Given the description of an element on the screen output the (x, y) to click on. 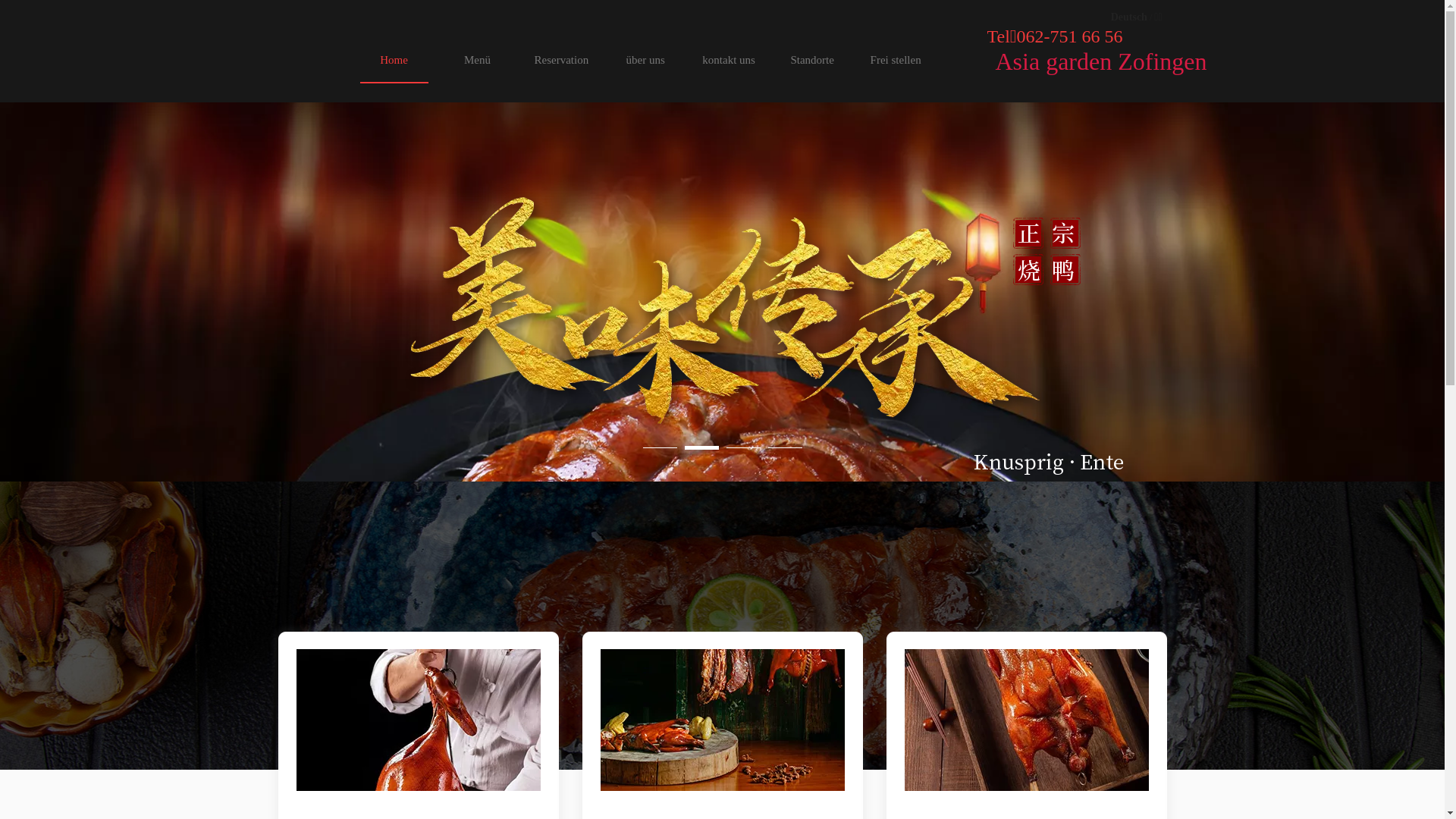
Reservation Element type: text (560, 59)
Deutsch Element type: text (1128, 16)
kontakt uns Element type: text (728, 59)
Standorte Element type: text (812, 59)
Frei stellen Element type: text (895, 59)
Reservation Element type: text (561, 59)
kontakt uns Element type: text (728, 59)
Standorte Element type: text (811, 59)
Home Element type: text (393, 59)
Frei stellen Element type: text (895, 59)
Home Element type: text (393, 59)
